Given the description of an element on the screen output the (x, y) to click on. 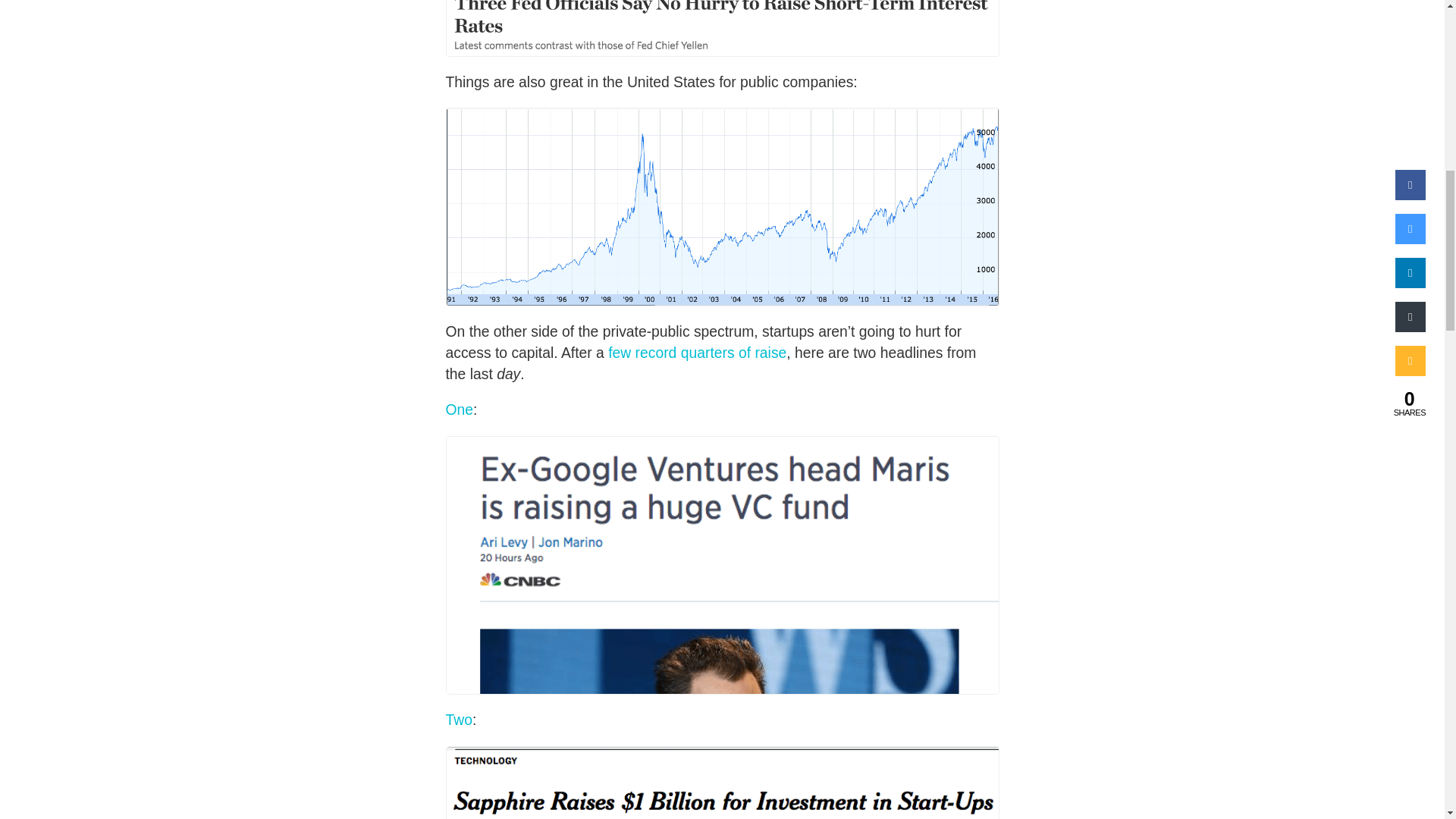
Two (458, 719)
few record quarters of raise (697, 352)
One (459, 409)
